Given the description of an element on the screen output the (x, y) to click on. 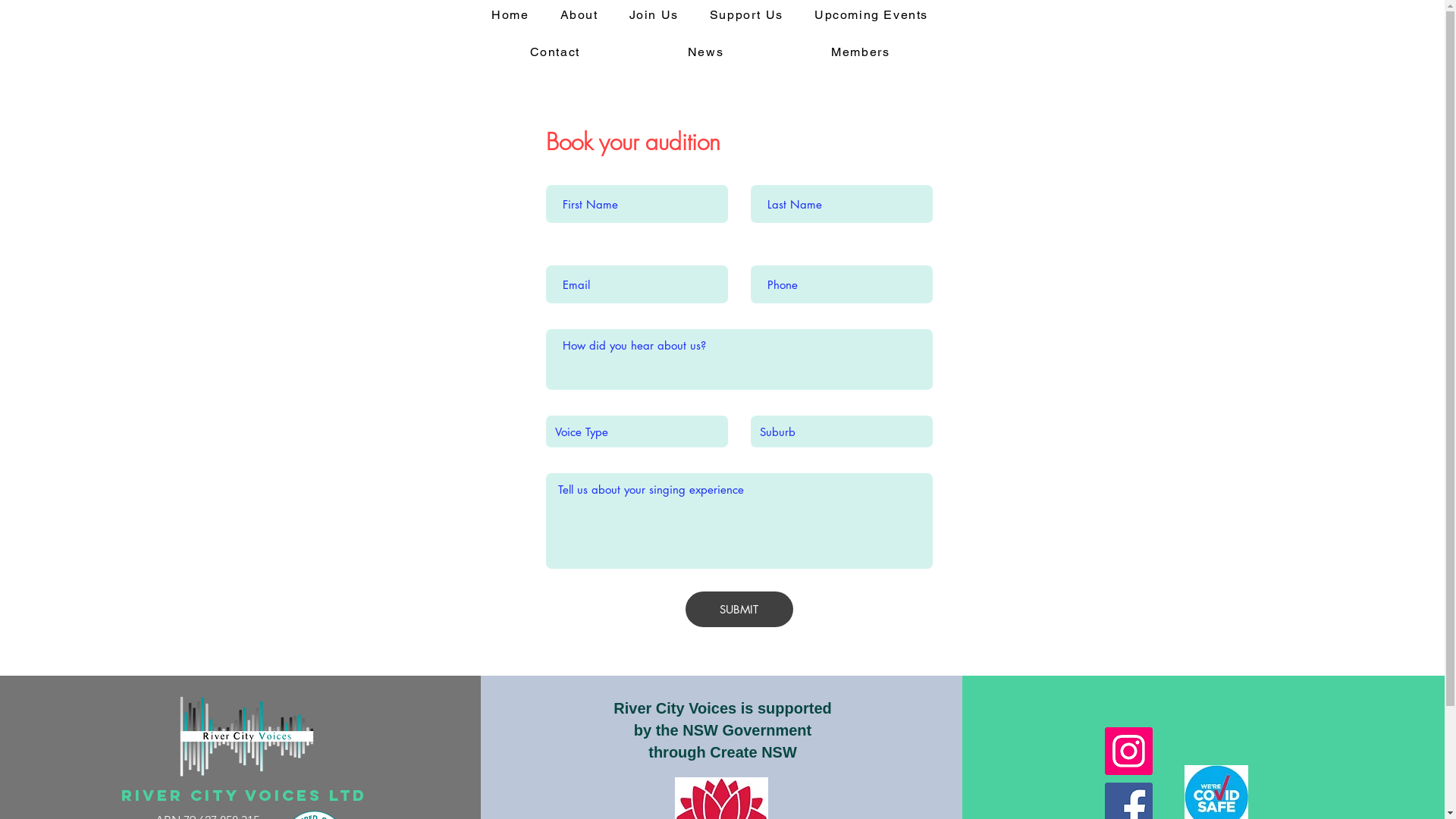
About Element type: text (578, 15)
Upcoming Events Element type: text (870, 15)
SUBMIT Element type: text (739, 609)
Members Element type: text (860, 52)
Support Us Element type: text (745, 15)
News Element type: text (705, 52)
Contact Element type: text (554, 52)
Home Element type: text (510, 15)
Join Us Element type: text (653, 15)
